Given the description of an element on the screen output the (x, y) to click on. 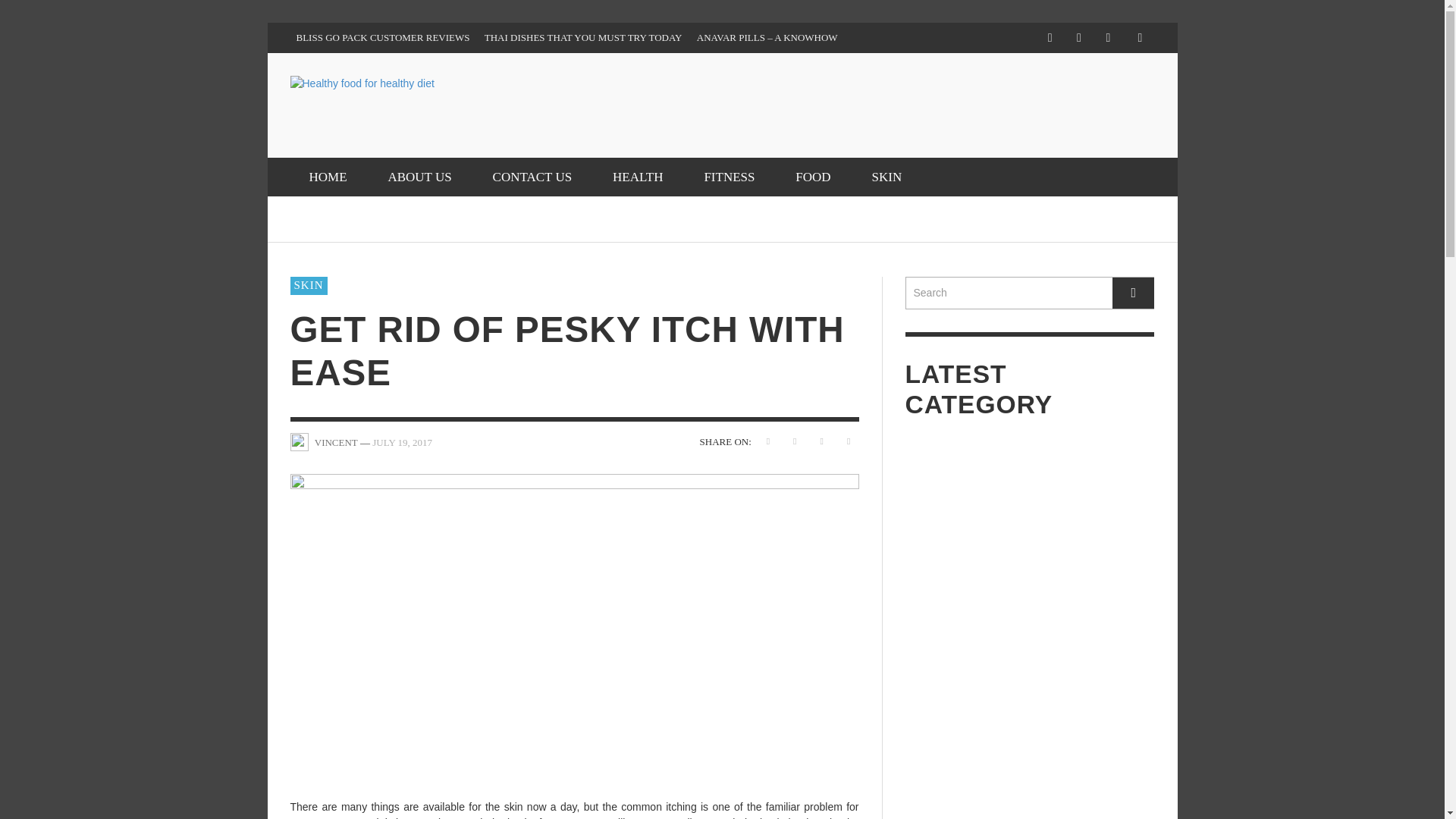
Facebook (1049, 37)
HEALTH (637, 177)
FITNESS (728, 177)
ABOUT US (419, 177)
Twitter (1107, 37)
THAI DISHES THAT YOU MUST TRY TODAY (583, 37)
Search (1029, 292)
BLISS GO PACK CUSTOMER REVIEWS (382, 37)
FOOD (812, 177)
CONTACT US (532, 177)
